Given the description of an element on the screen output the (x, y) to click on. 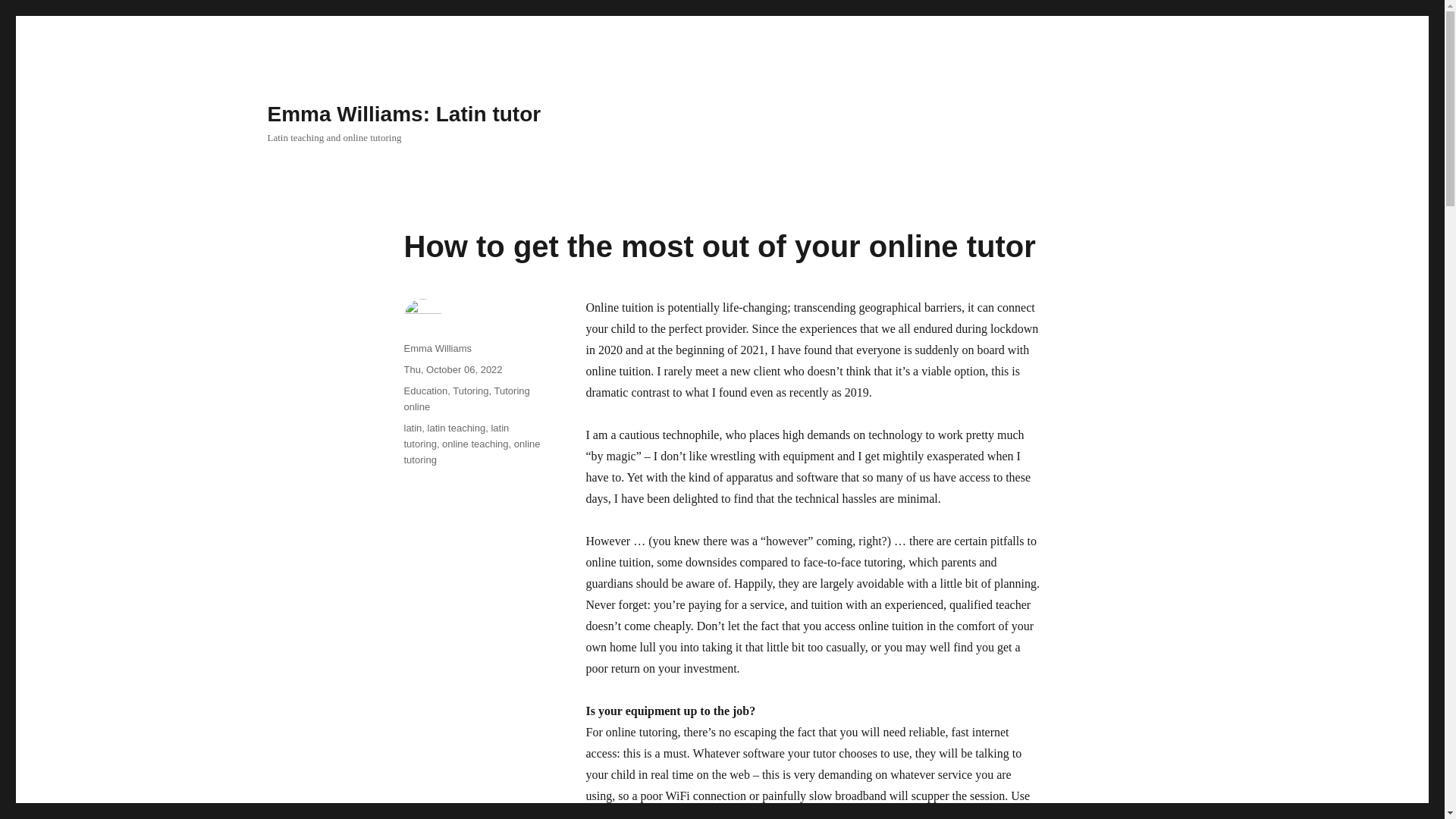
Emma Williams (437, 348)
speed test (630, 814)
Tutoring online (466, 398)
Education (424, 390)
online teaching (475, 443)
latin tutoring (455, 435)
Tutoring (469, 390)
online tutoring (471, 452)
Emma Williams: Latin tutor (403, 114)
Thu, October 06, 2022 (452, 369)
latin teaching (457, 428)
latin (412, 428)
